Given the description of an element on the screen output the (x, y) to click on. 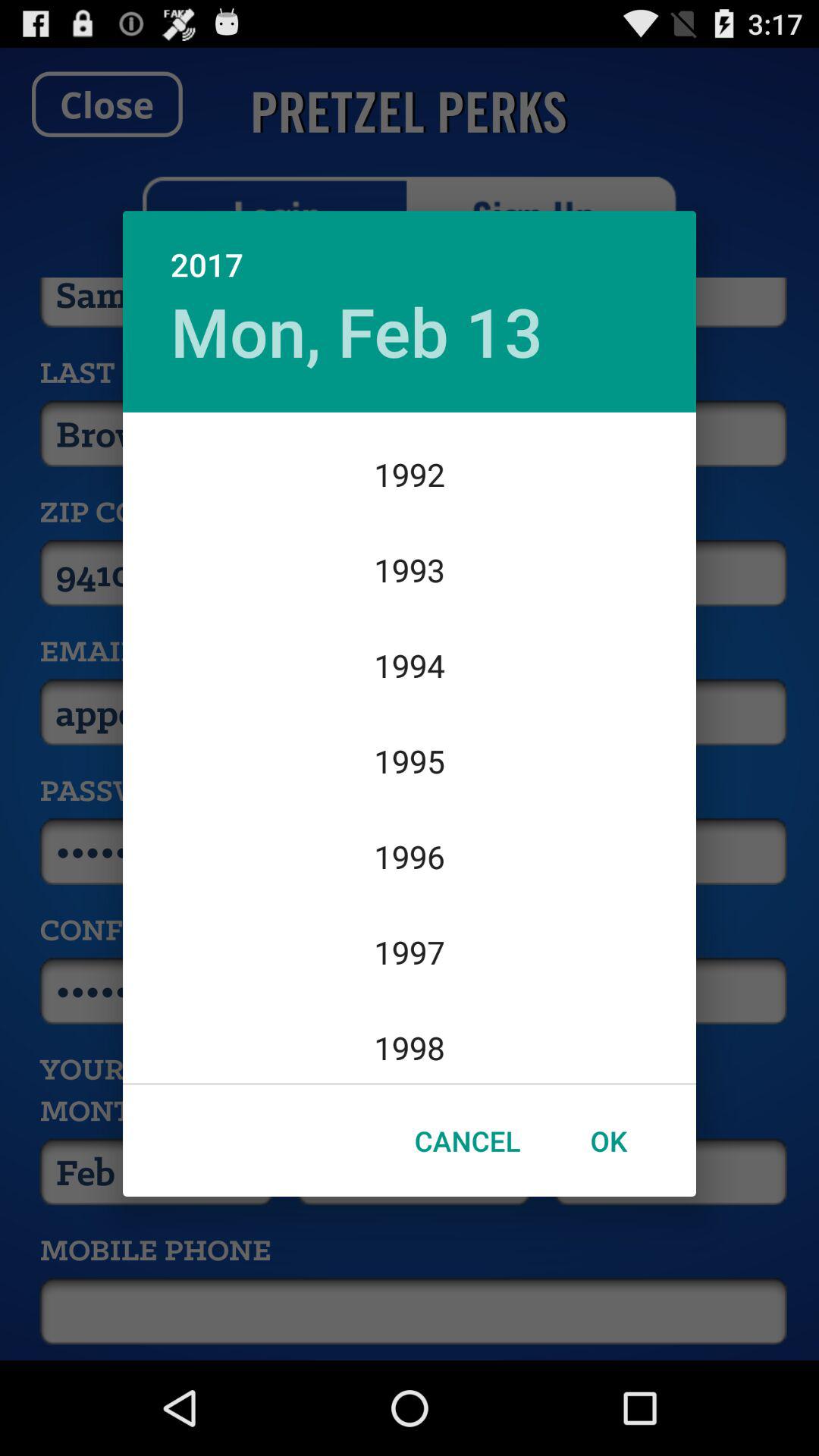
click cancel (467, 1140)
